Given the description of an element on the screen output the (x, y) to click on. 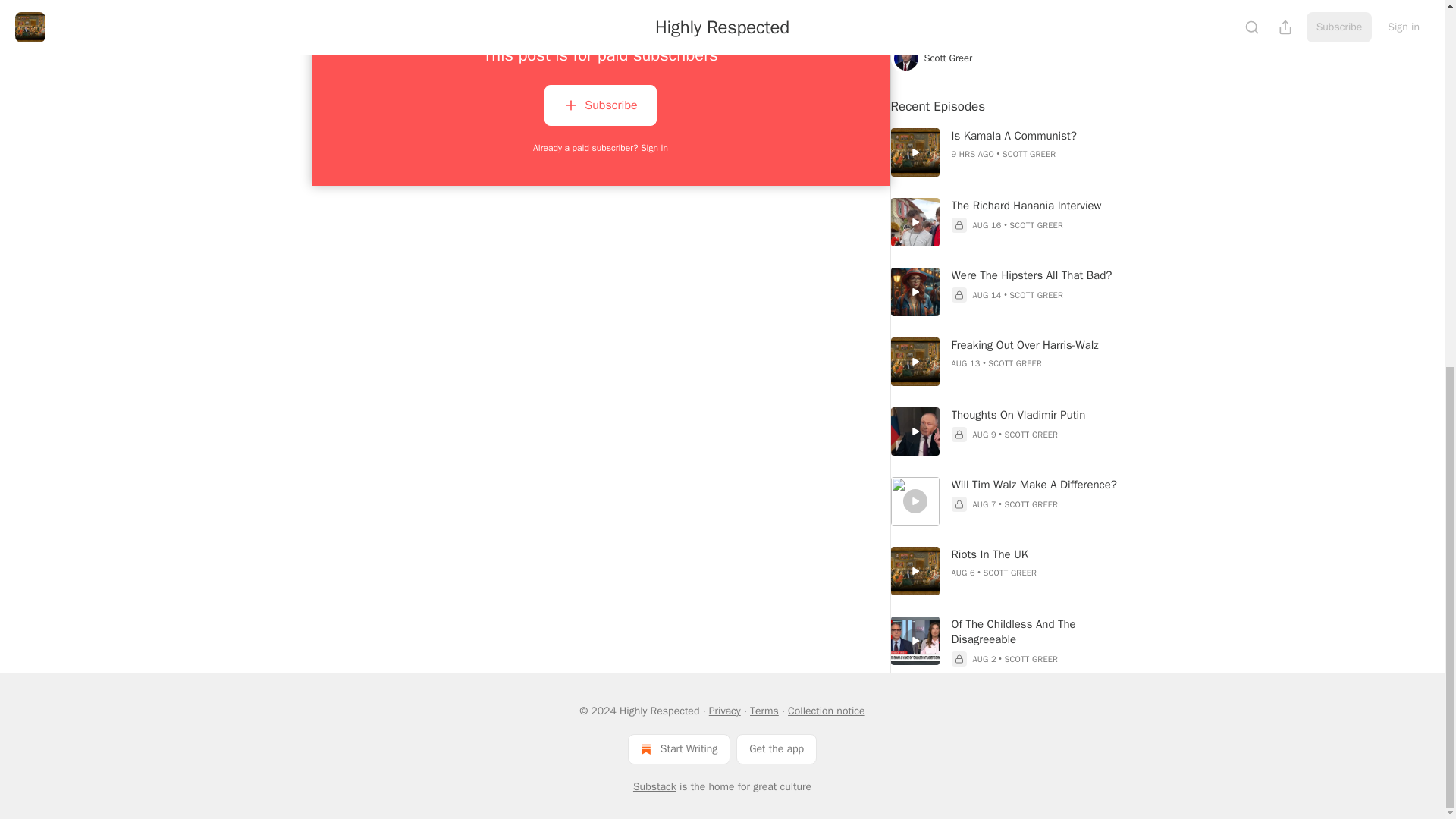
SCOTT GREER (1035, 225)
Is Kamala A Communist? (1041, 135)
Subscribe (600, 105)
Subscribe (600, 108)
Already a paid subscriber? Sign in (600, 147)
SCOTT GREER (1035, 294)
The Richard Hanania Interview (1041, 205)
SCOTT GREER (1030, 153)
Were The Hipsters All That Bad? (1041, 274)
